Given the description of an element on the screen output the (x, y) to click on. 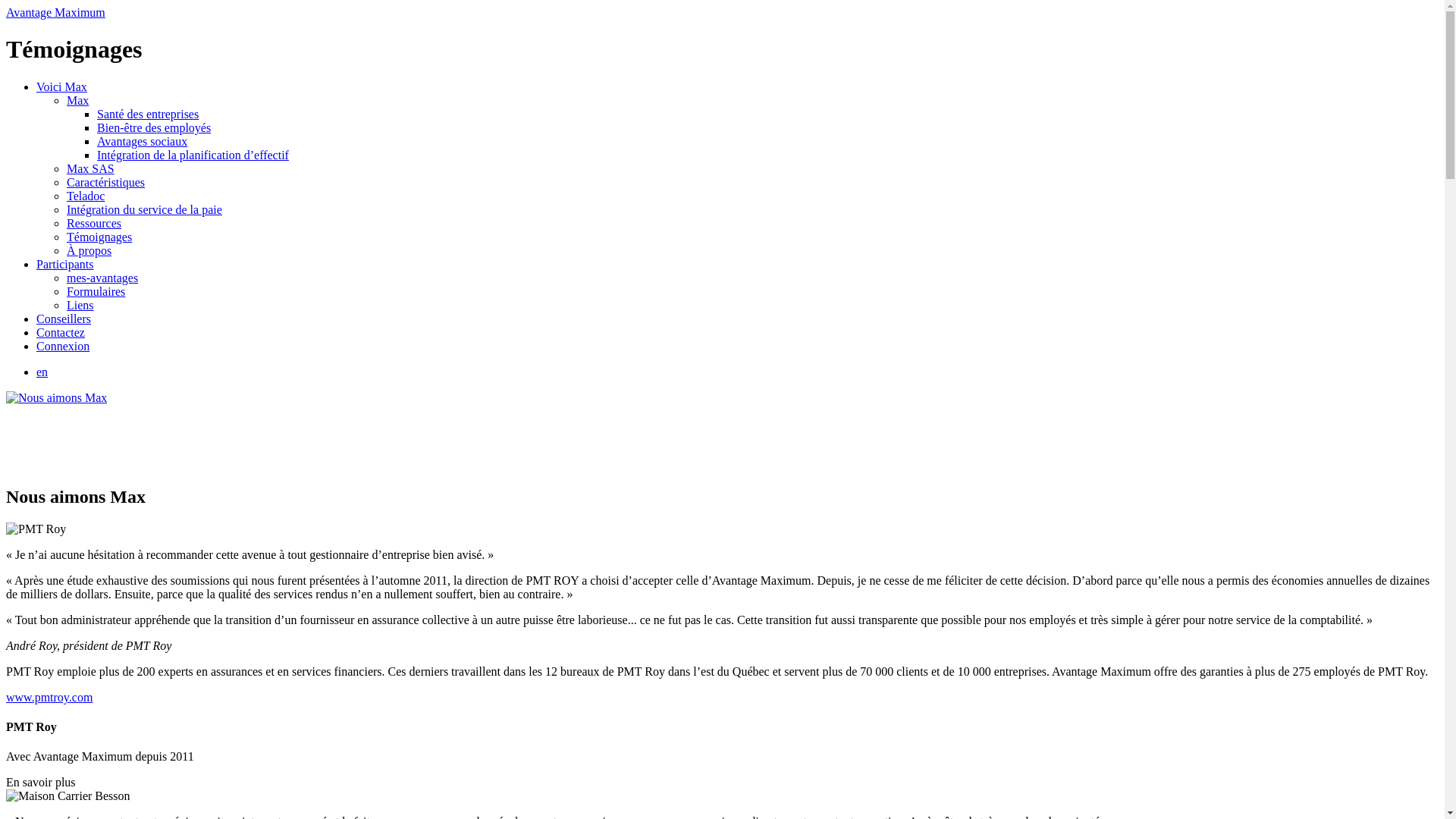
Nous aimons Max Element type: hover (56, 397)
Formulaires Element type: text (95, 291)
mes-avantages Element type: text (102, 277)
www.pmtroy.com Element type: text (49, 696)
Teladoc Element type: text (85, 195)
Max SAS Element type: text (90, 168)
Avantage Maximum Element type: text (55, 12)
Contactez Element type: text (60, 332)
Connexion Element type: text (62, 345)
Avantages sociaux Element type: text (142, 140)
Participants Element type: text (65, 263)
Conseillers Element type: text (63, 318)
Liens Element type: text (80, 304)
Voici Max Element type: text (61, 86)
Ressources Element type: text (93, 222)
Max Element type: text (77, 100)
en Element type: text (41, 371)
